Given the description of an element on the screen output the (x, y) to click on. 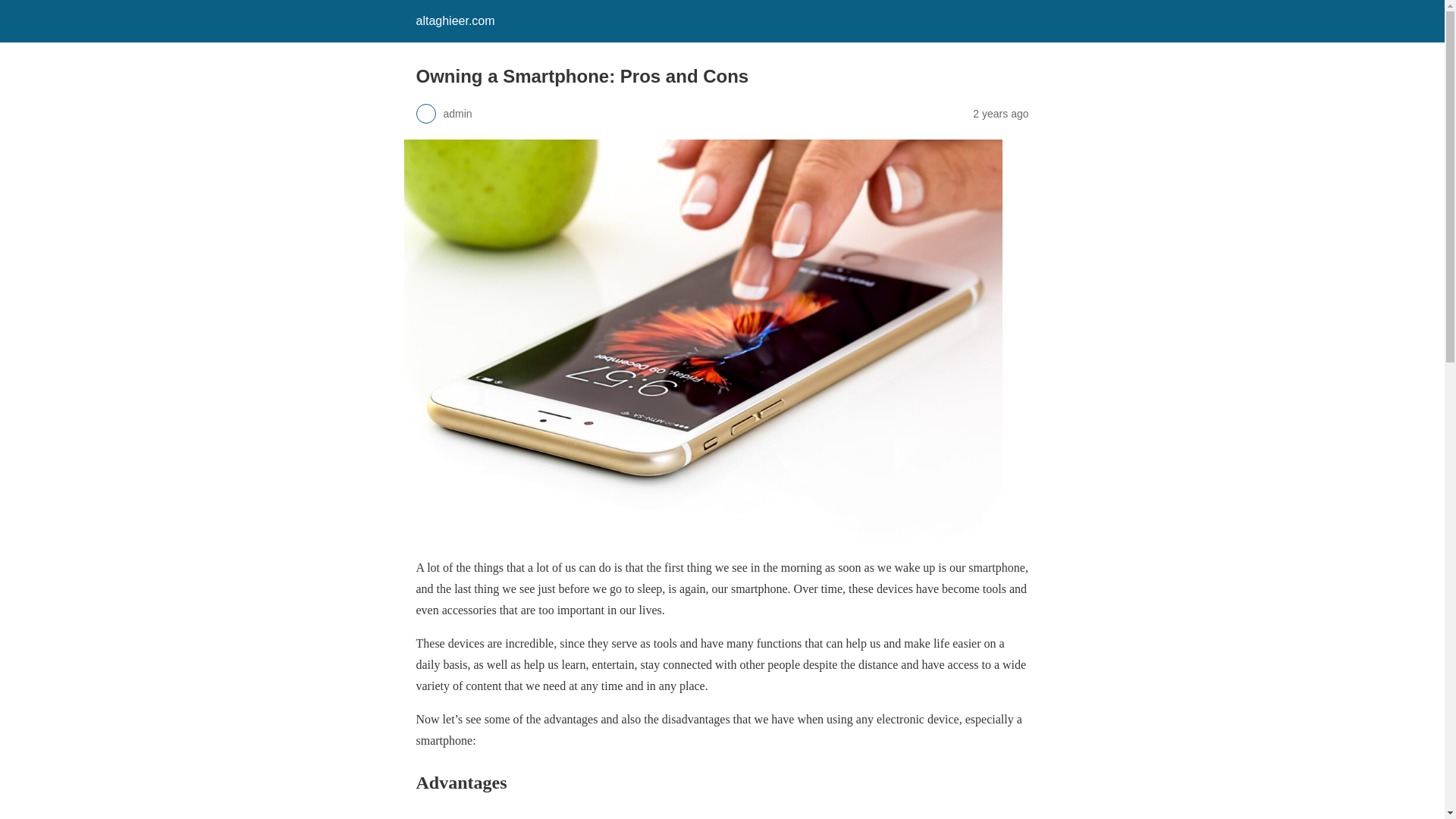
altaghieer.com (454, 20)
